Given the description of an element on the screen output the (x, y) to click on. 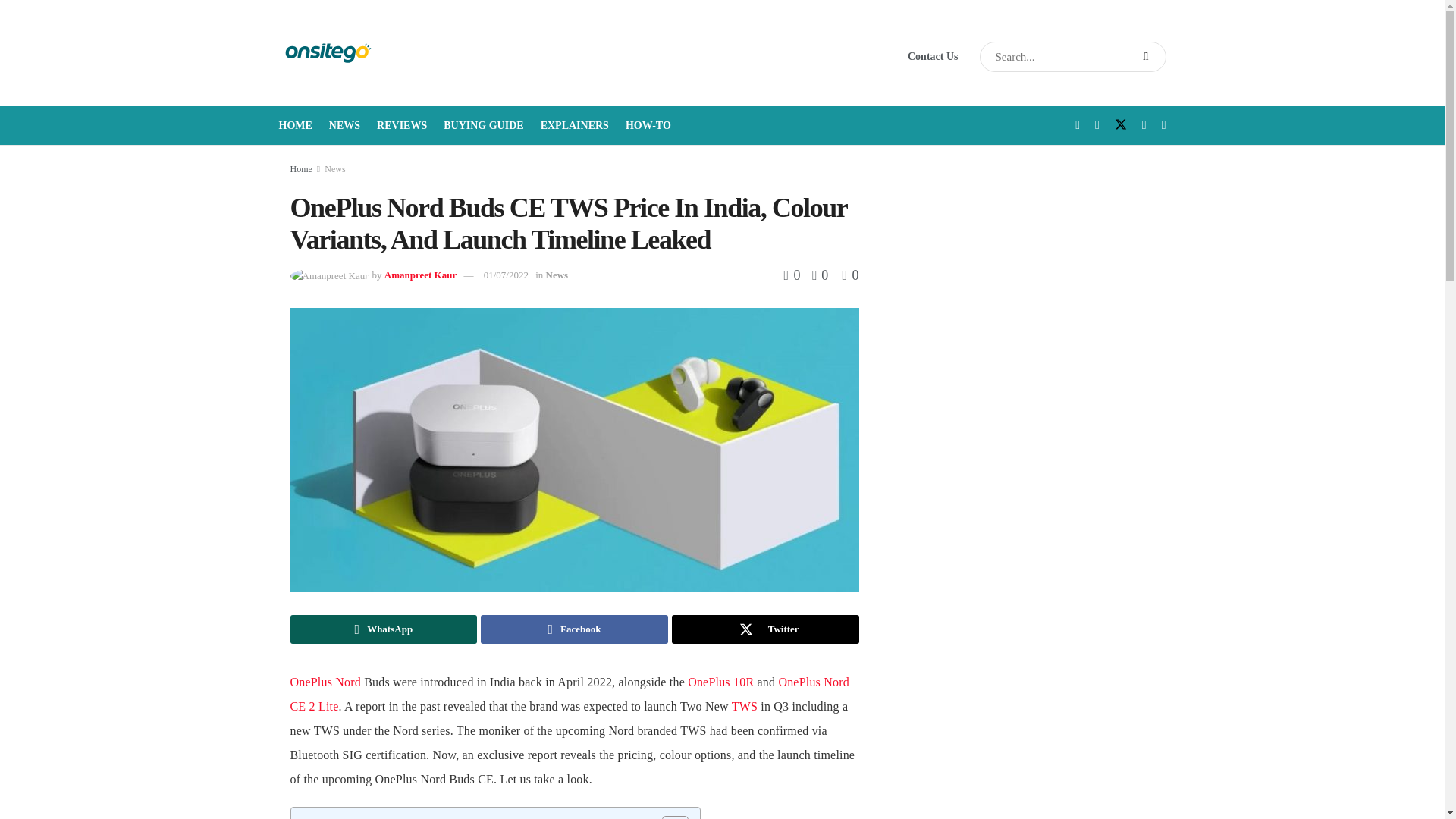
HOW-TO (648, 125)
Contact Us (932, 56)
Twitter (765, 629)
News (557, 274)
News (334, 168)
0 (794, 274)
Facebook (574, 629)
Amanpreet Kaur (420, 274)
EXPLAINERS (574, 125)
Home (300, 168)
